Given the description of an element on the screen output the (x, y) to click on. 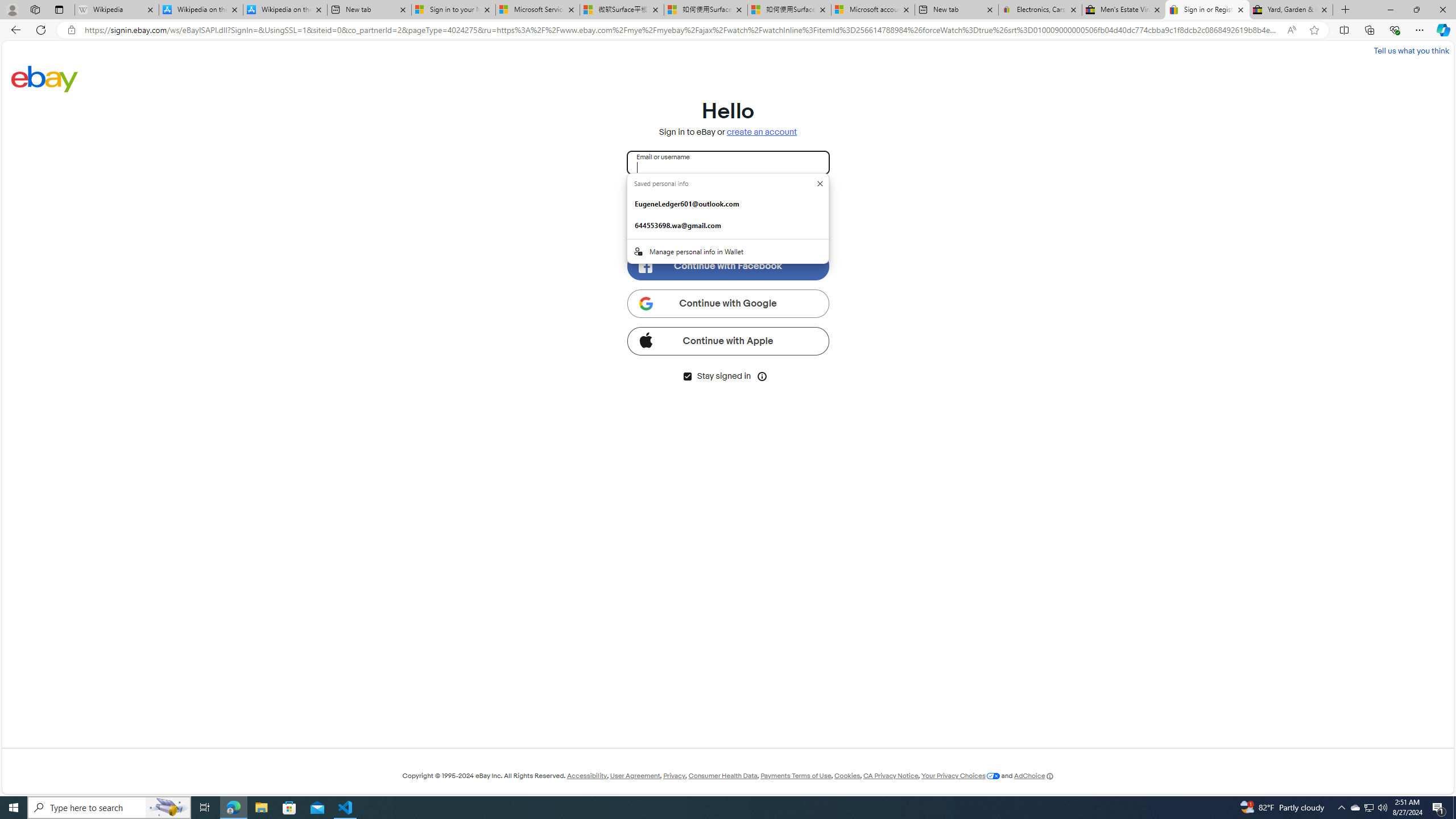
Manage personal info in Wallet (727, 251)
Microsoft Services Agreement (537, 9)
CA Privacy Notice (890, 775)
Continue with Apple (727, 340)
User Agreement (635, 775)
Cookies (847, 775)
create an account (761, 131)
